Given the description of an element on the screen output the (x, y) to click on. 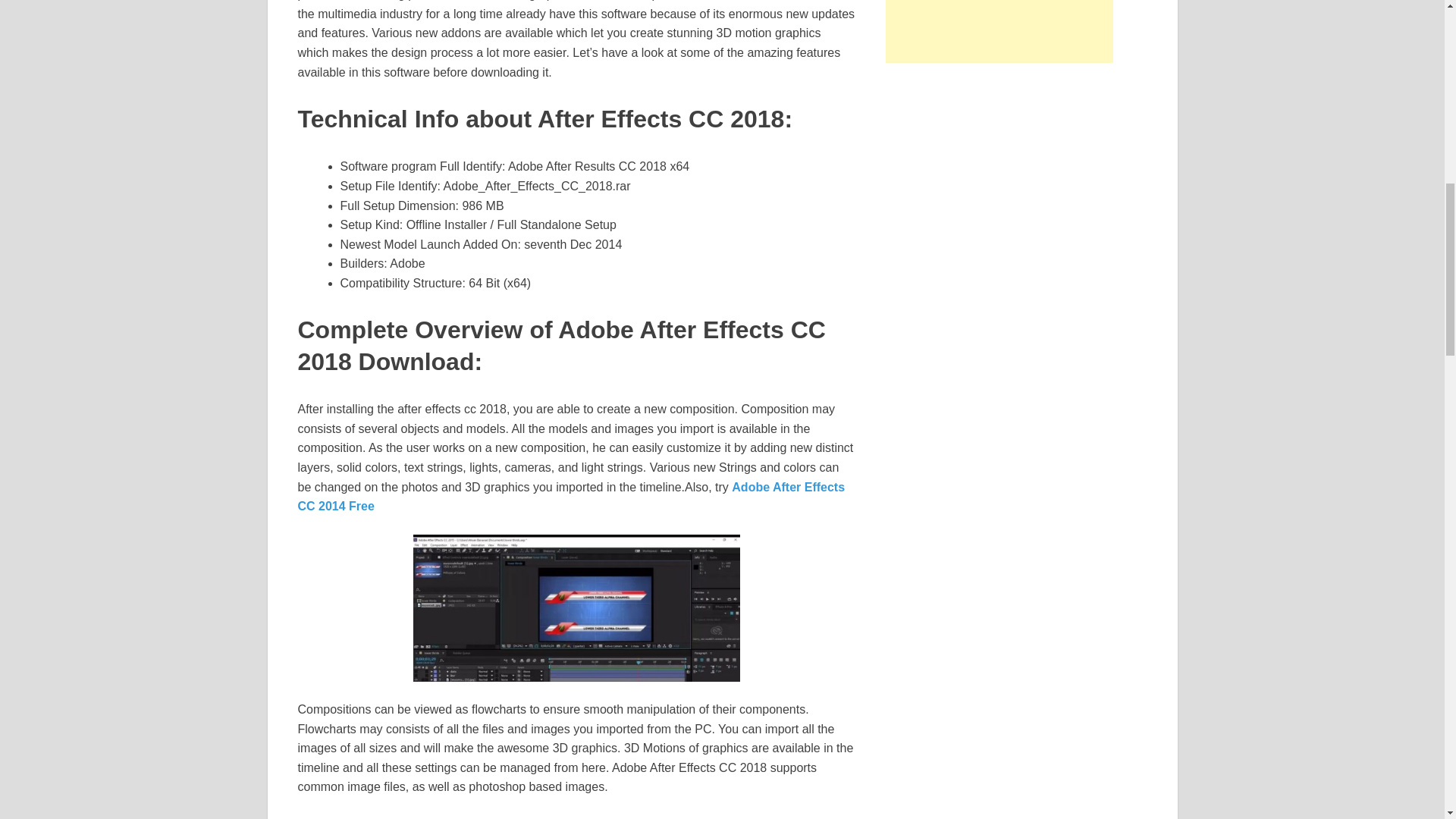
Advertisement (999, 31)
